Given the description of an element on the screen output the (x, y) to click on. 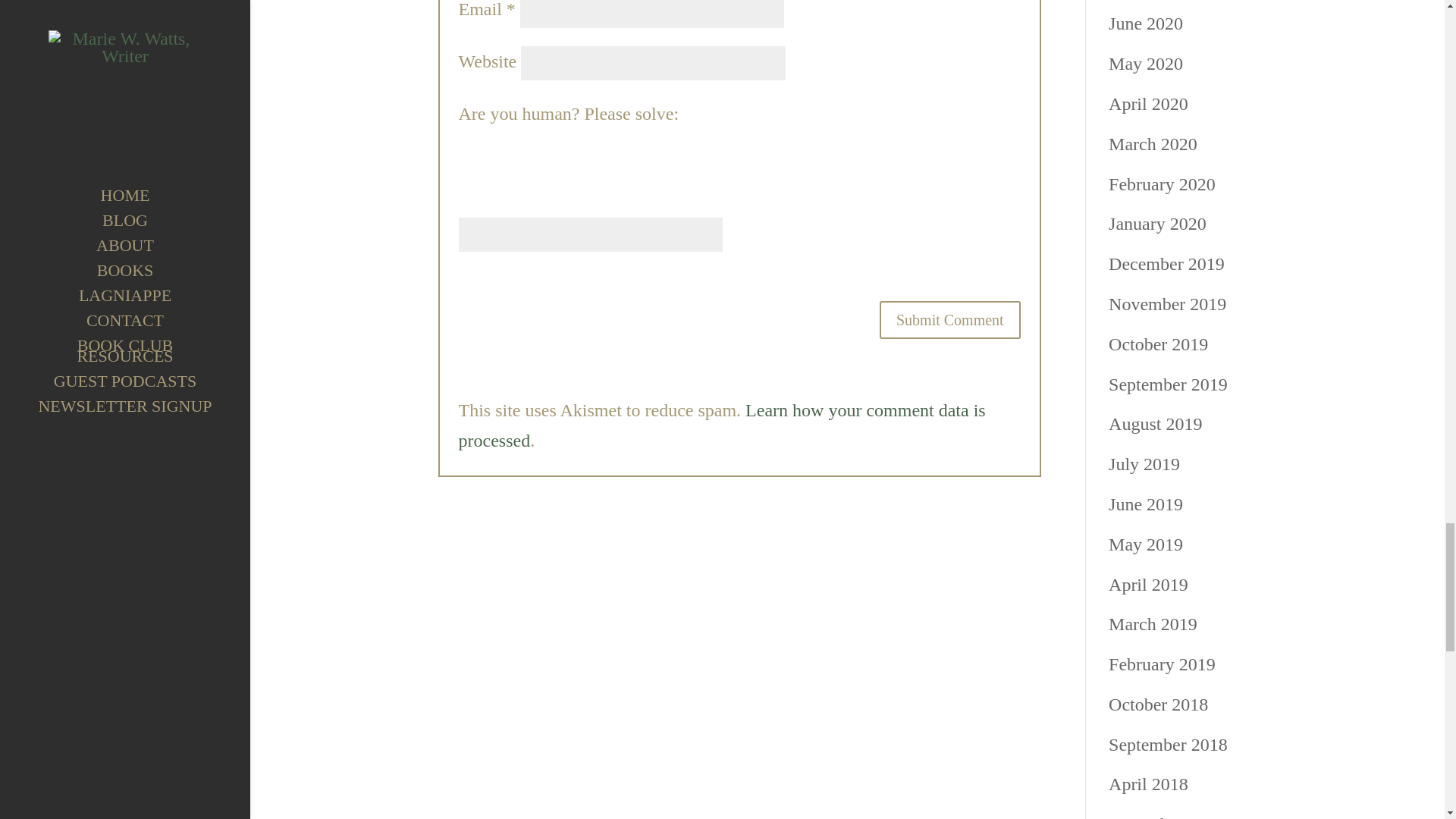
Submit Comment (949, 320)
Learn how your comment data is processed (721, 425)
Submit Comment (949, 320)
